Given the description of an element on the screen output the (x, y) to click on. 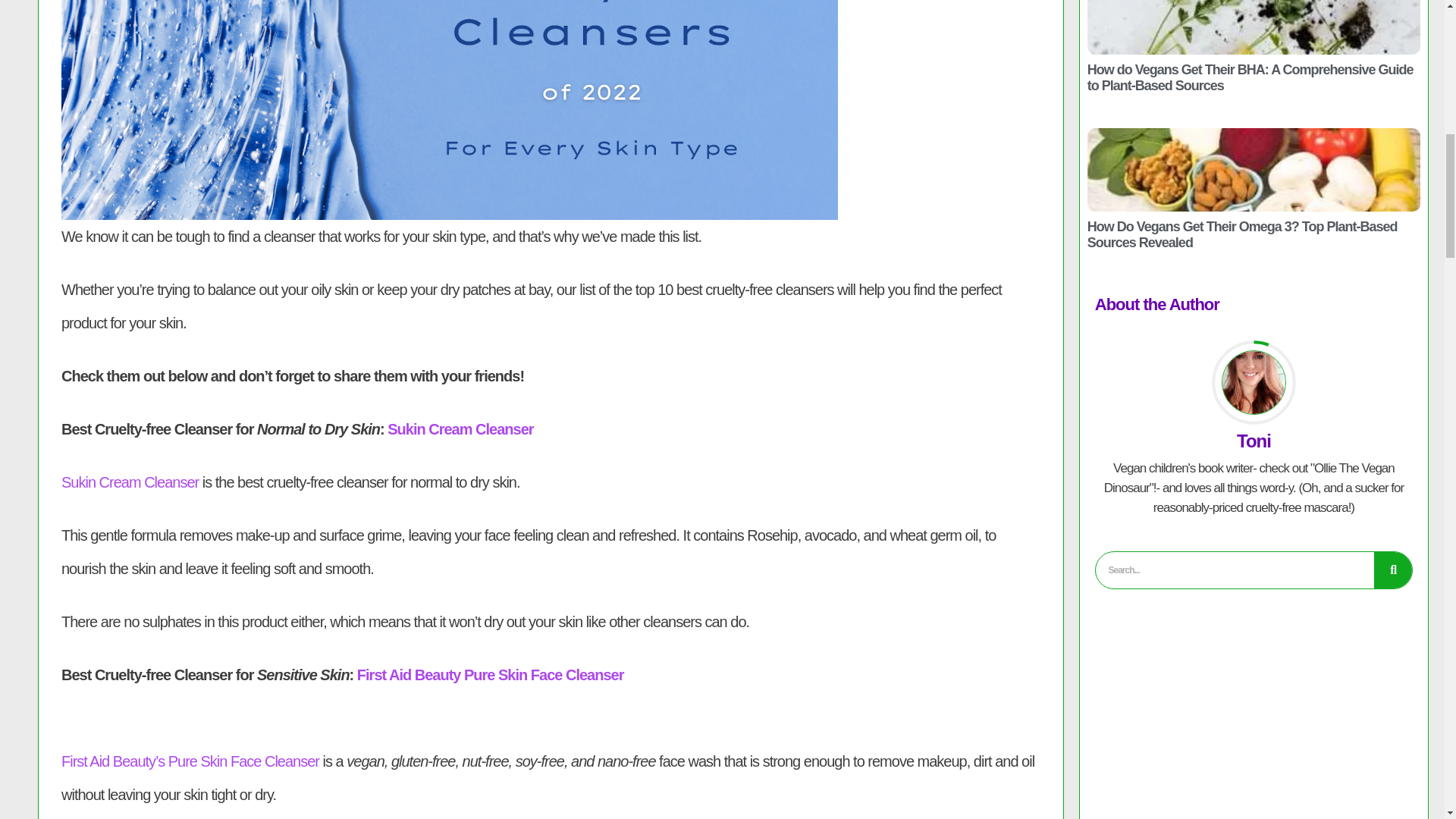
Search (1393, 570)
Search (1235, 570)
